Given the description of an element on the screen output the (x, y) to click on. 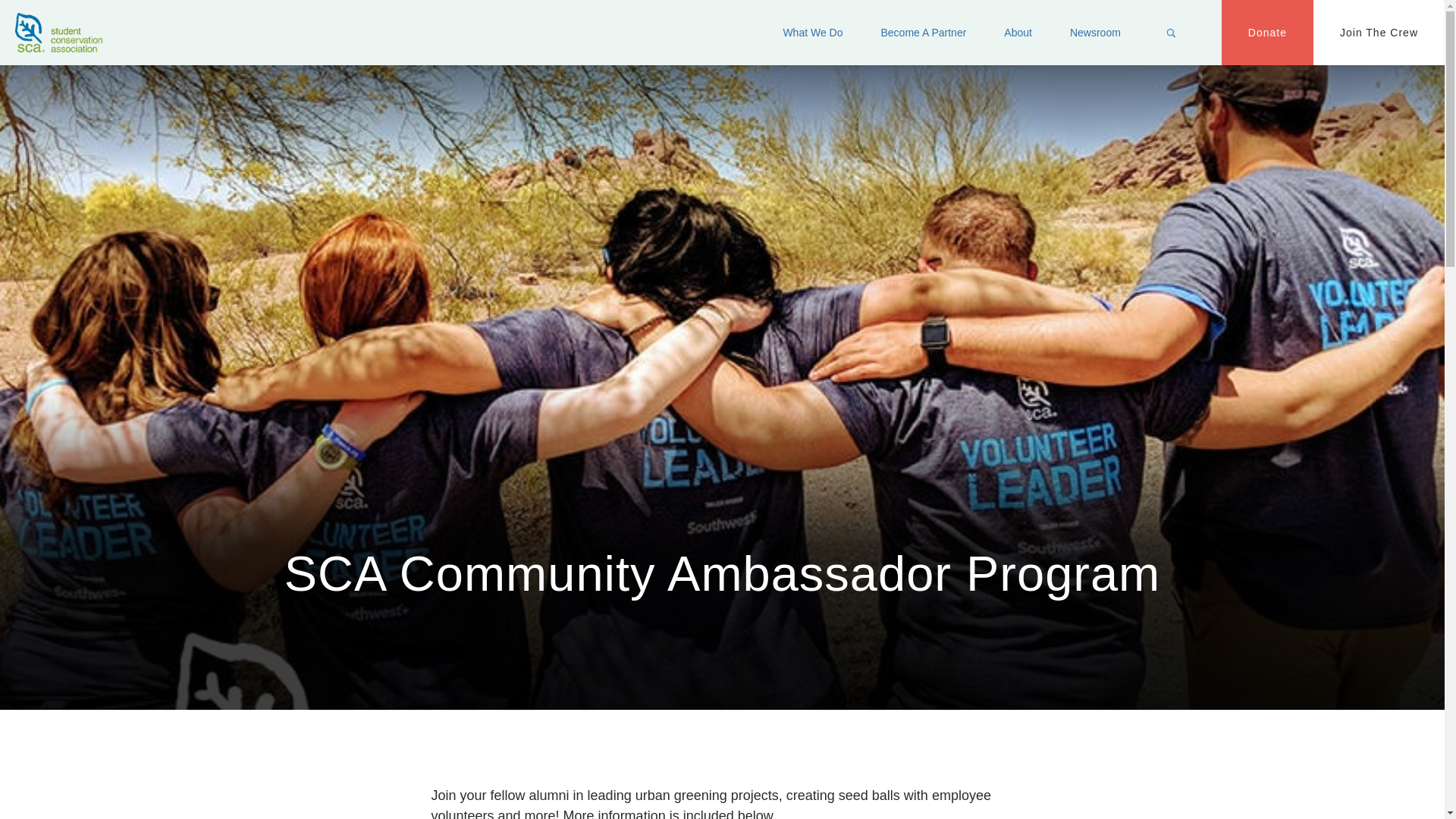
What We Do (813, 32)
Become A Partner (923, 32)
Join The Crew (1378, 32)
